Given the description of an element on the screen output the (x, y) to click on. 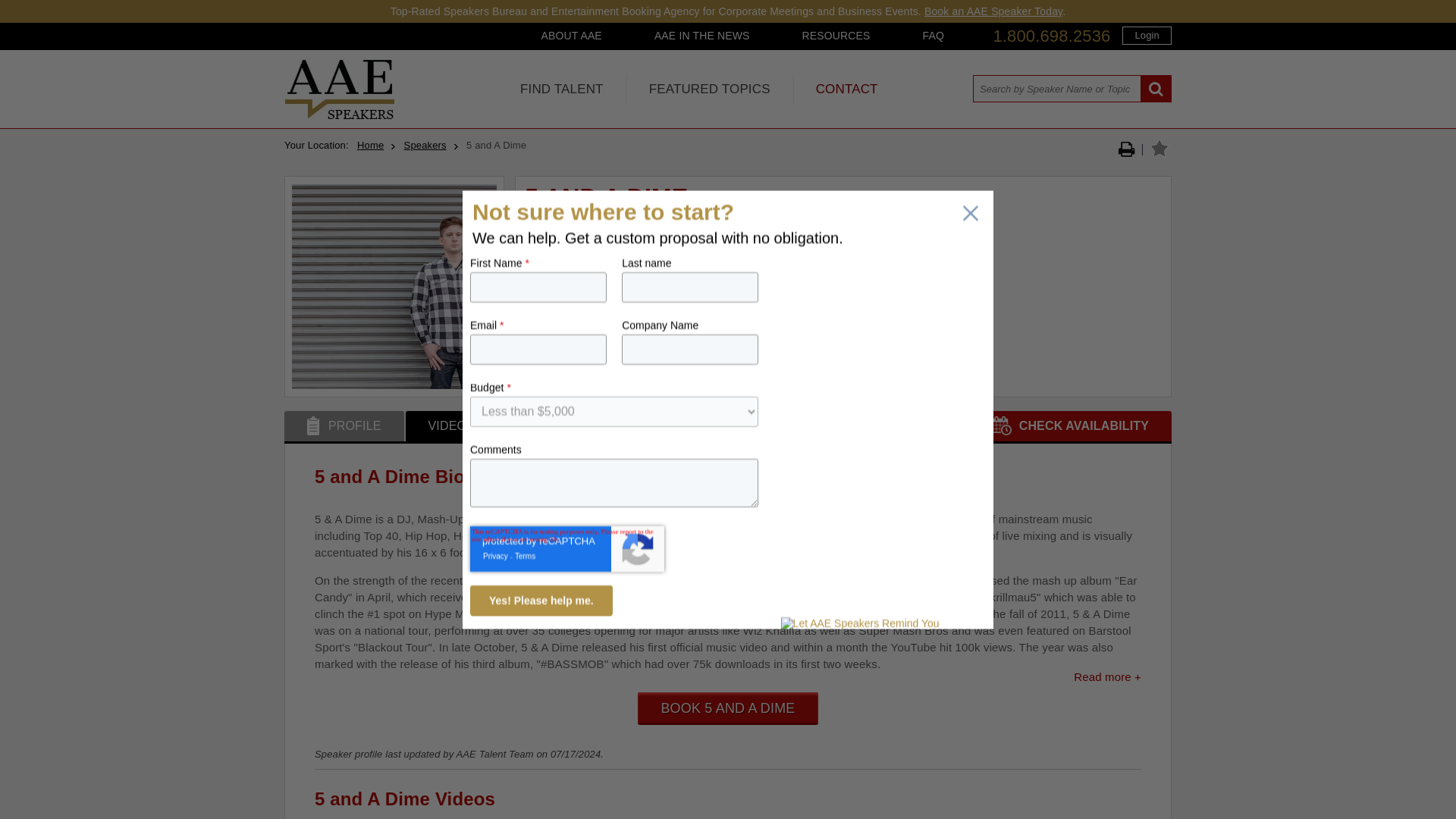
FAQ (933, 34)
AAE IN THE NEWS (702, 34)
Book an AAE Speaker Today (993, 10)
Search (1156, 89)
All American Speakers Bureau and Celebrity Booking Agency (338, 115)
ABOUT AAE (570, 34)
1.800.698.2536 (1050, 35)
RESOURCES (836, 34)
Login (1147, 35)
